Given the description of an element on the screen output the (x, y) to click on. 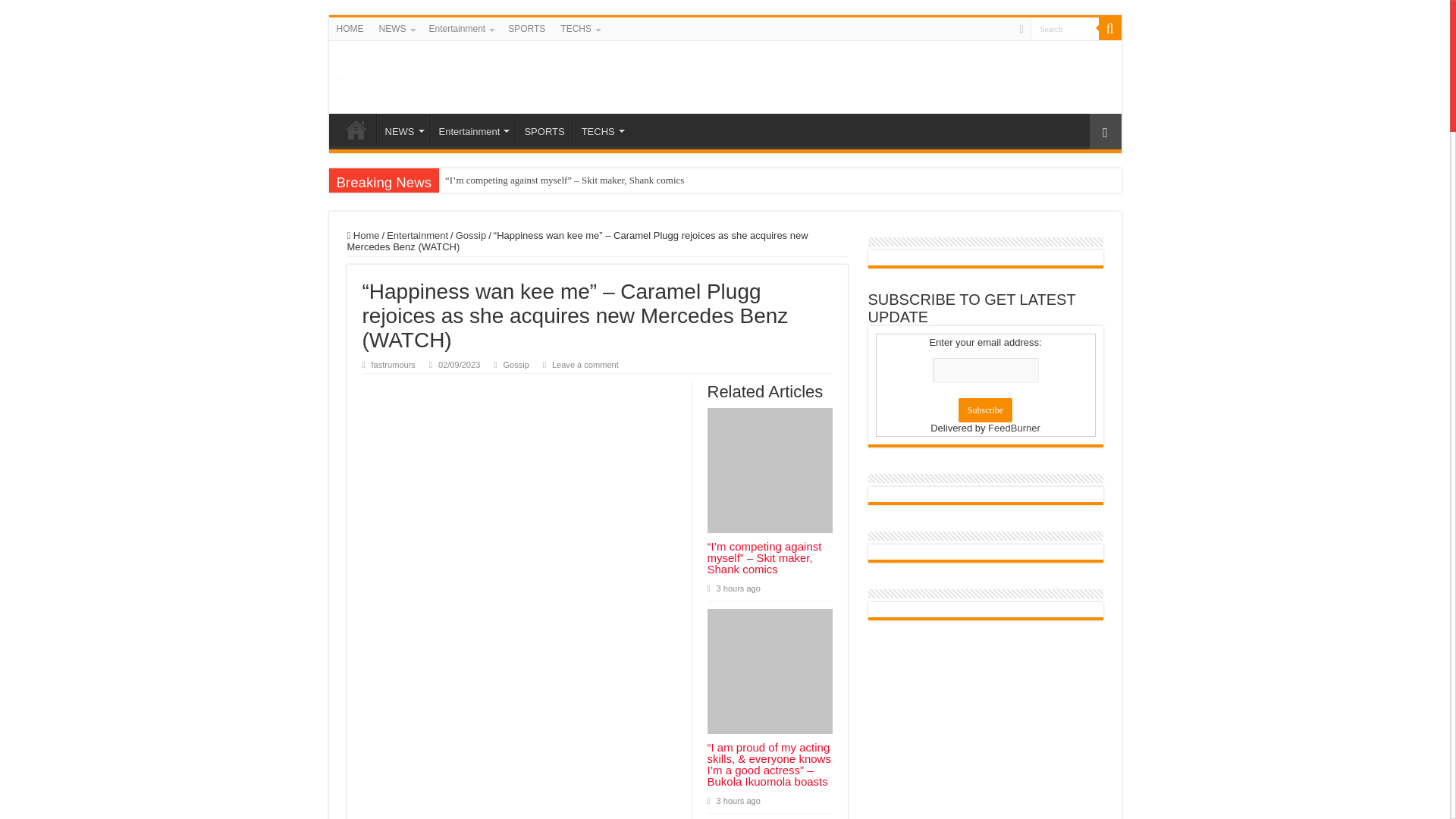
HOME (355, 129)
NEWS (402, 129)
Search (1063, 28)
Home (363, 235)
TECHS (601, 129)
SPORTS (543, 129)
TECHS (580, 28)
Entertainment (417, 235)
HOME (350, 28)
NEWS (396, 28)
SPORTS (526, 28)
Search (1109, 28)
Random Article (1105, 131)
Search (1063, 28)
Subscribe (984, 410)
